Given the description of an element on the screen output the (x, y) to click on. 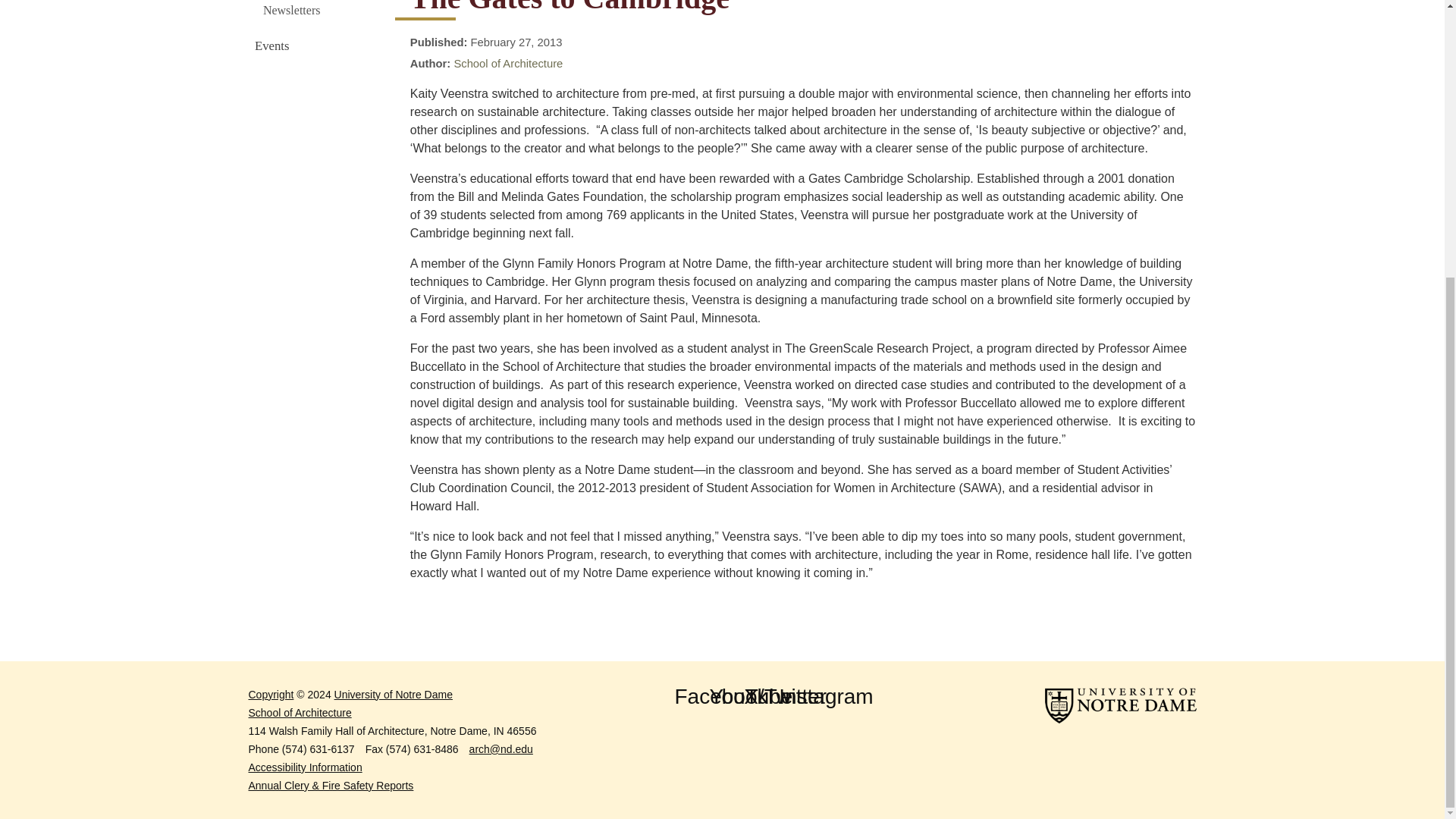
School of Architecture (588, 712)
Copyright (271, 694)
Newsletters (317, 10)
School of Architecture (507, 63)
Events (317, 46)
University of Notre Dame (393, 694)
